Given the description of an element on the screen output the (x, y) to click on. 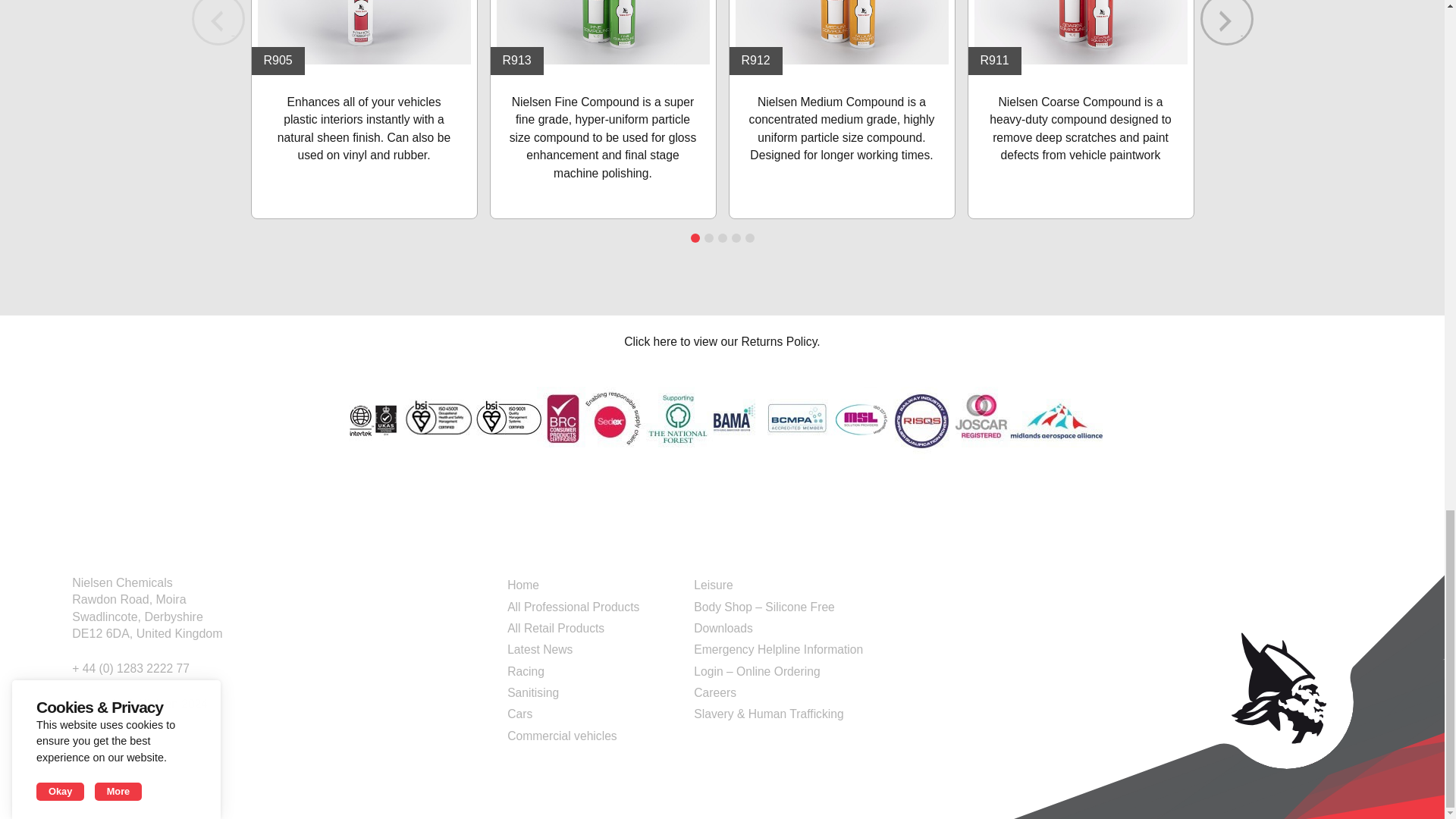
Coarse Compound 5 (1080, 32)
Medium Compound 4 (842, 32)
Interior Dressing 2 (363, 32)
Fine Compound 3 (602, 32)
